Given the description of an element on the screen output the (x, y) to click on. 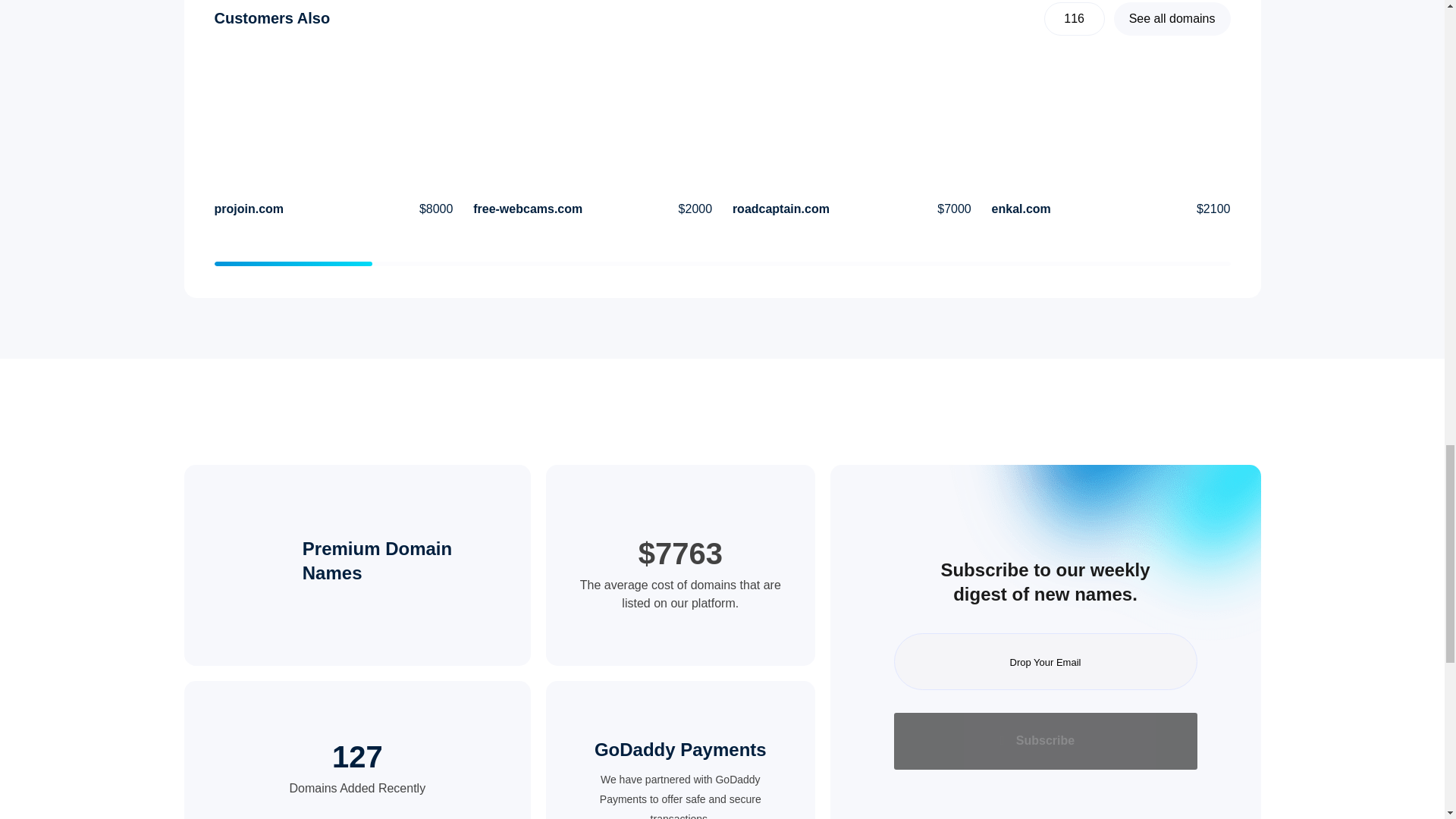
Subscribe (1044, 740)
